Given the description of an element on the screen output the (x, y) to click on. 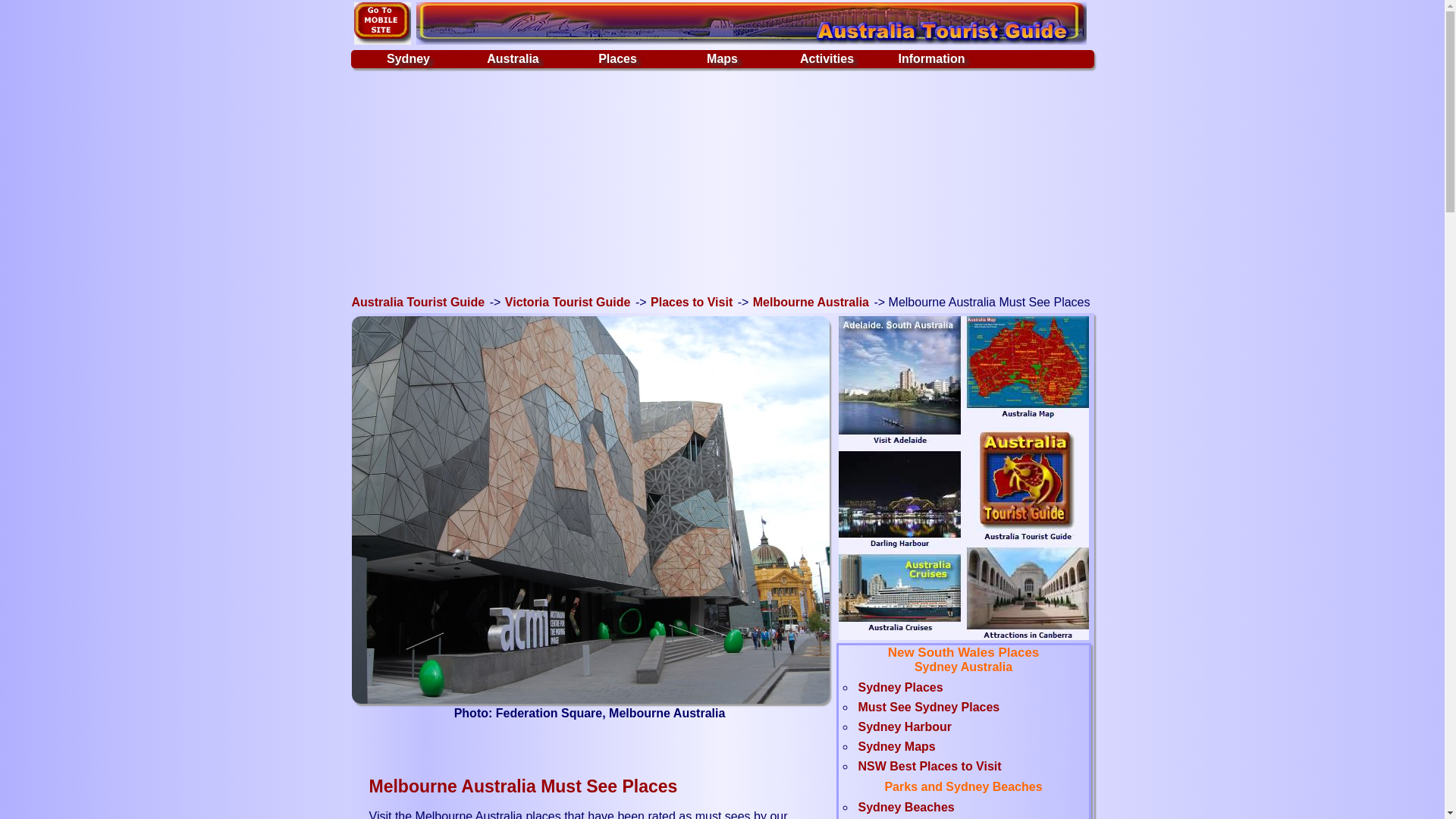
Australia Tourist Guide (750, 23)
Places (618, 59)
Explore Australia (513, 59)
Places of Interest (723, 59)
Maps (723, 59)
Australia (513, 59)
Mobile Site (381, 23)
Exploring Australia Places (618, 59)
Sydney Australia (408, 59)
Sydney (408, 59)
